Given the description of an element on the screen output the (x, y) to click on. 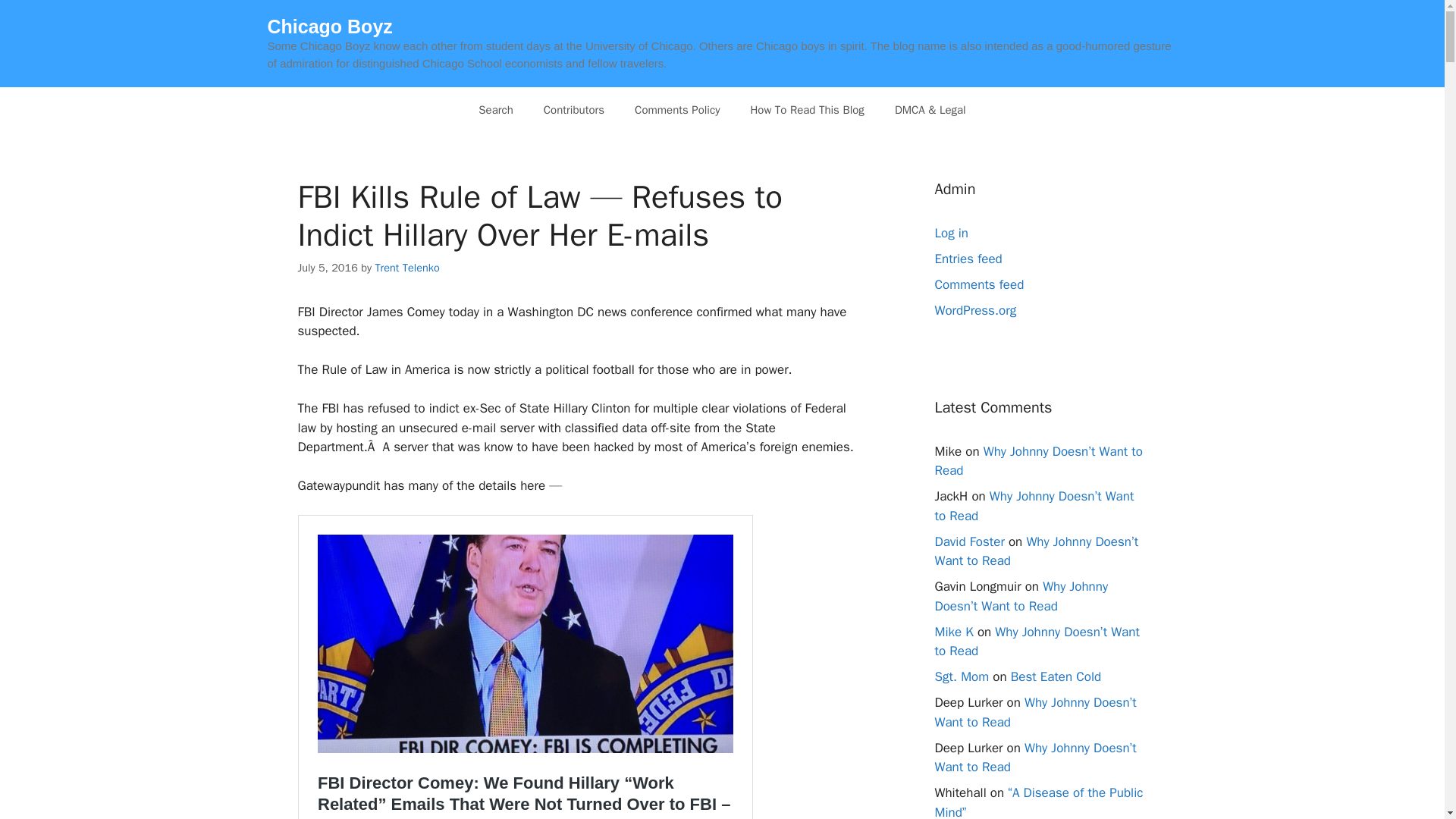
How To Read This Blog (807, 109)
View all posts by Trent Telenko (406, 267)
Contributors (574, 109)
Chicago Boyz (328, 25)
Trent Telenko (406, 267)
Search (495, 109)
Comments Policy (677, 109)
